Given the description of an element on the screen output the (x, y) to click on. 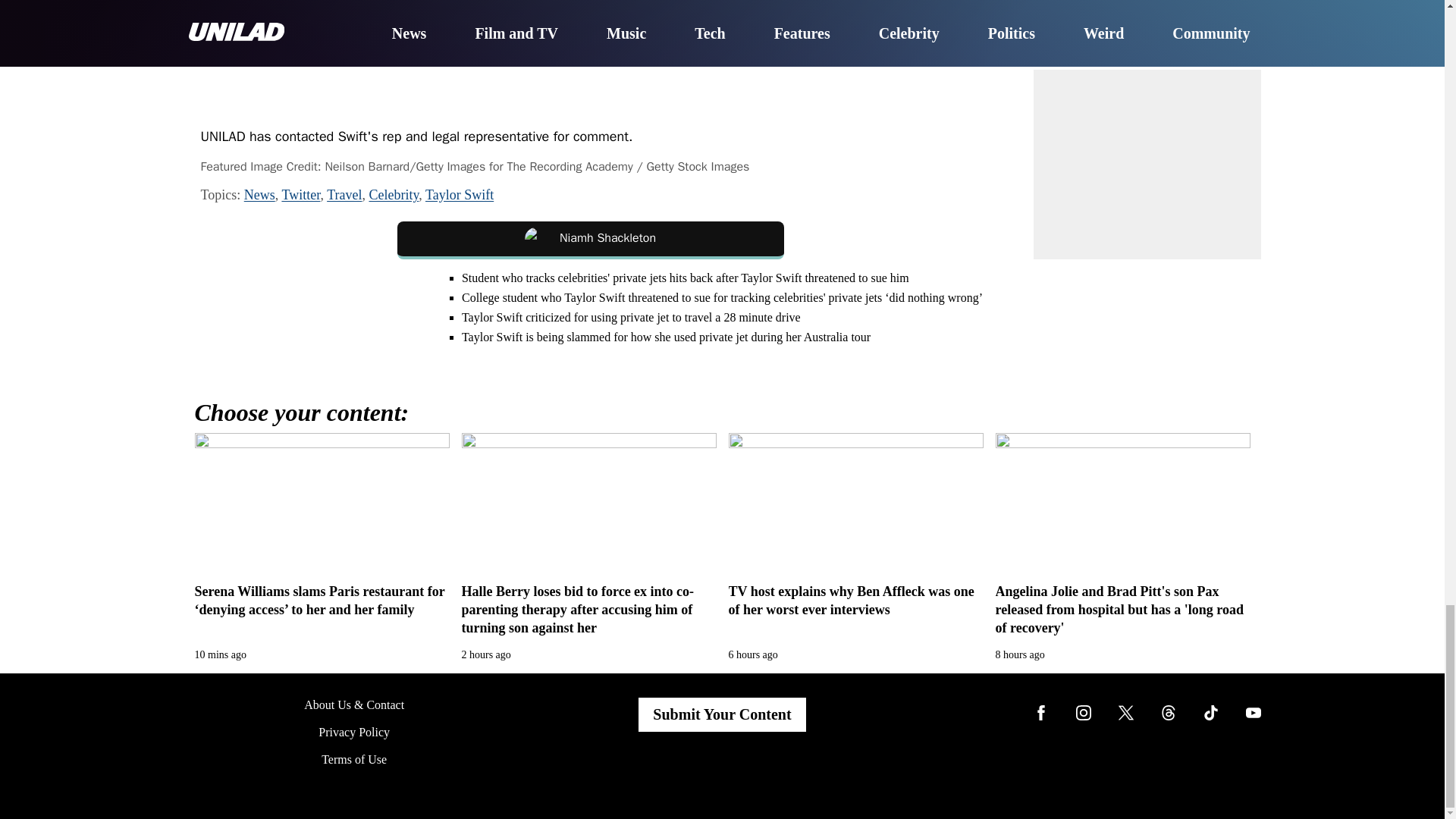
Celebrity (393, 194)
News (259, 194)
Travel (343, 194)
Taylor Swift (459, 194)
Twitter (300, 194)
